Given the description of an element on the screen output the (x, y) to click on. 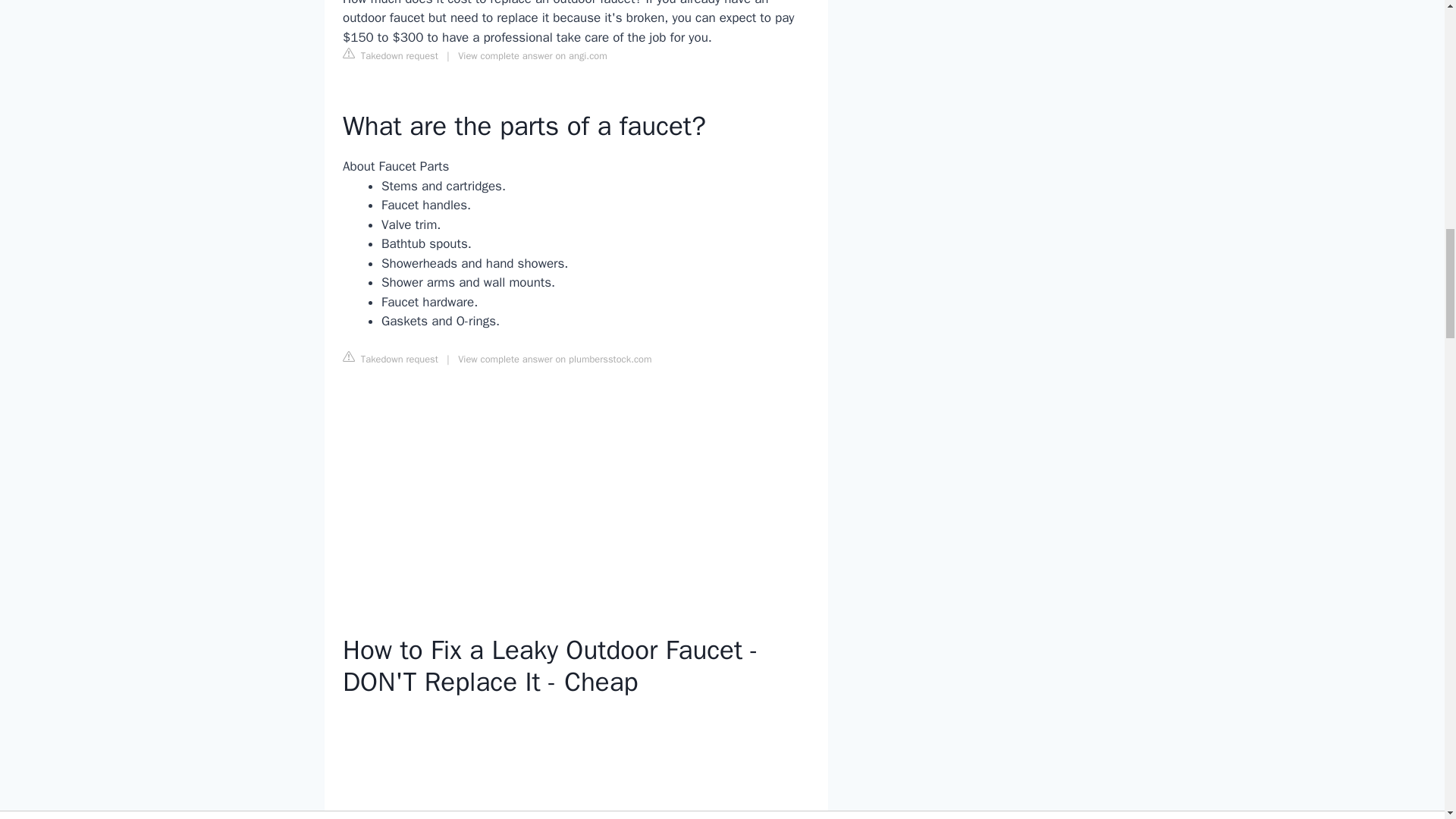
Takedown request (390, 54)
View complete answer on angi.com (532, 55)
Takedown request (390, 358)
View complete answer on plumbersstock.com (554, 358)
